Given the description of an element on the screen output the (x, y) to click on. 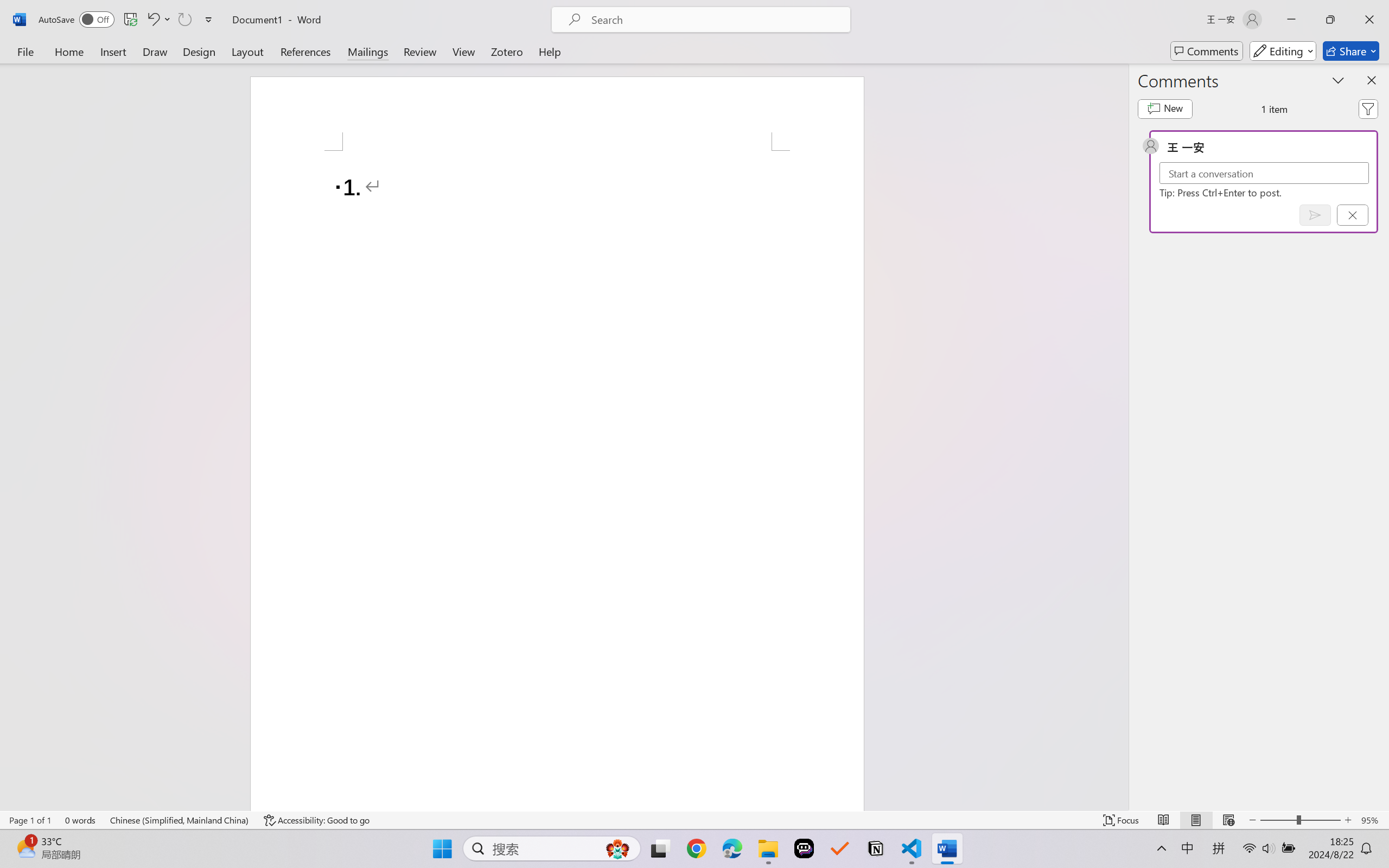
Undo Number Default (158, 19)
Post comment (Ctrl + Enter) (1315, 214)
Repeat Doc Close (184, 19)
